Given the description of an element on the screen output the (x, y) to click on. 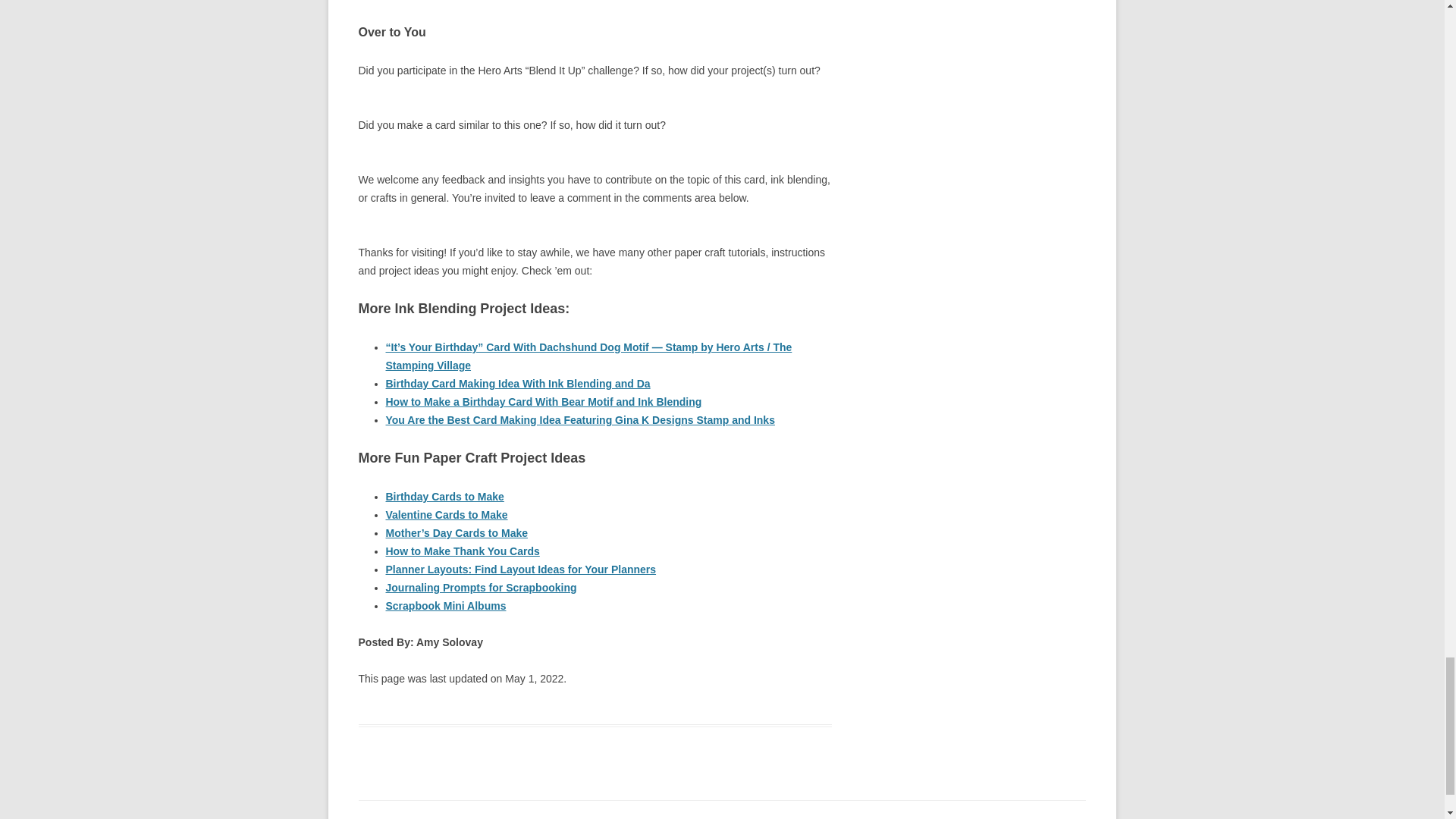
How to Make Thank You Cards (461, 551)
Journaling Prompts for Scrapbooking (480, 587)
Birthday Card Making Idea With Ink Blending and Da (517, 383)
Birthday Cards to Make (444, 496)
Planner Layouts: Find Layout Ideas for Your Planners (520, 569)
Valentine Cards to Make (445, 514)
How to Make a Birthday Card With Bear Motif and Ink Blending (543, 401)
Scrapbook Mini Albums (445, 605)
